Given the description of an element on the screen output the (x, y) to click on. 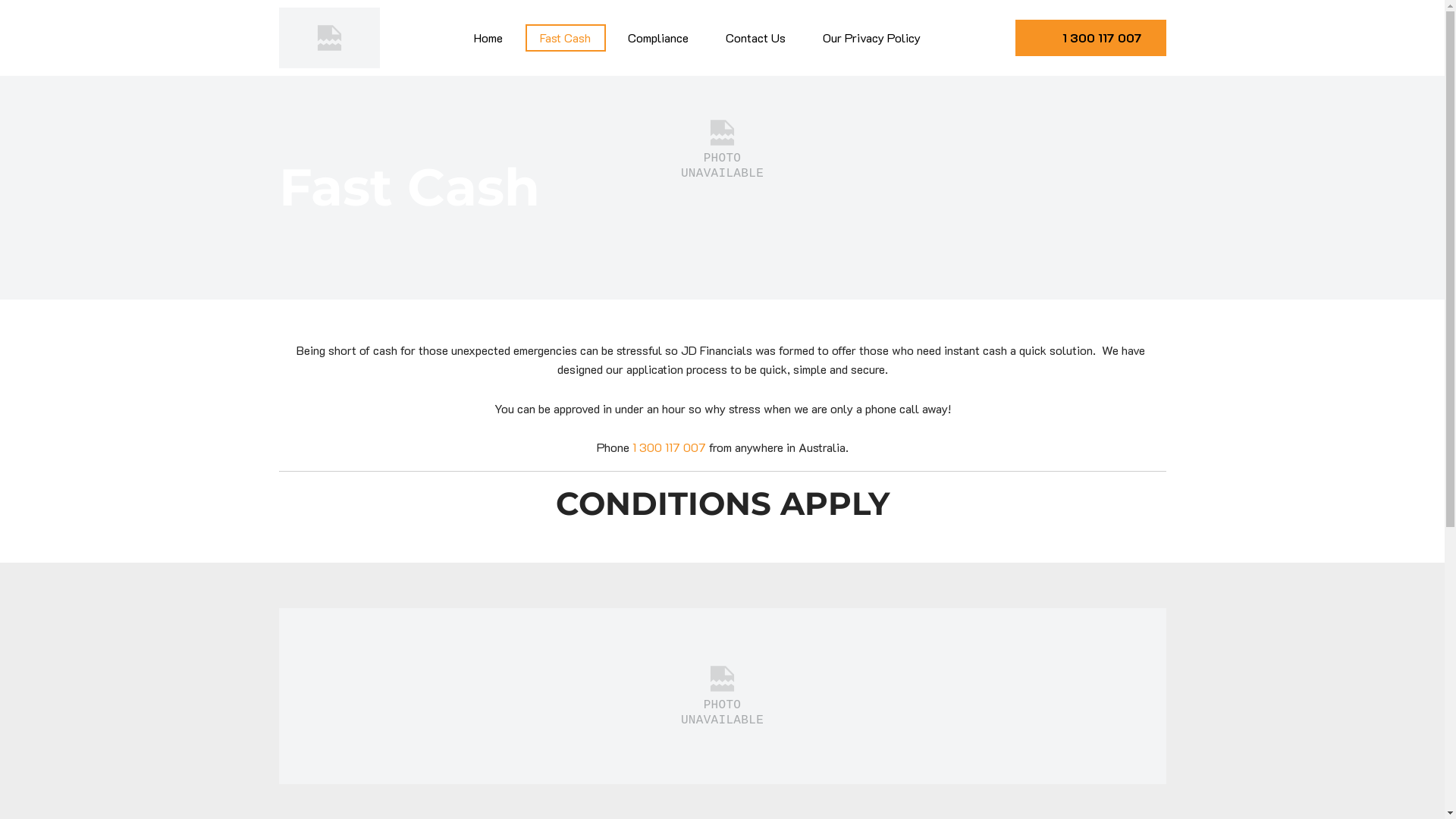
JD Financials Element type: hover (280, 617)
Compliance Element type: text (657, 37)
Our Privacy Policy Element type: text (871, 37)
1 300 117 007 Element type: text (669, 447)
Contact Us Element type: text (755, 37)
1 300 117 007 Element type: text (1089, 37)
Home Element type: text (488, 37)
Fast Cash Element type: text (564, 37)
